Given the description of an element on the screen output the (x, y) to click on. 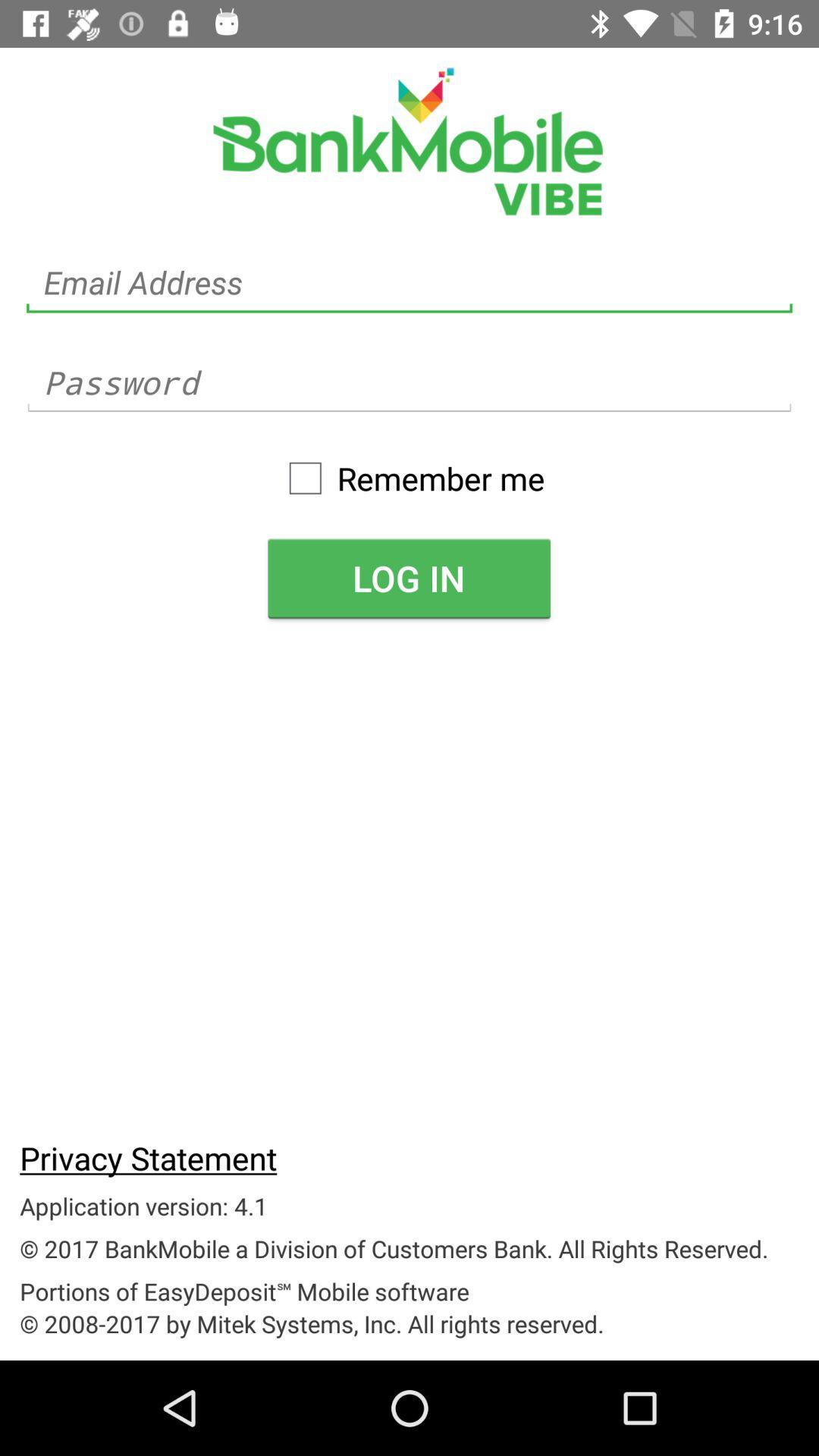
shows type email address (409, 282)
